Given the description of an element on the screen output the (x, y) to click on. 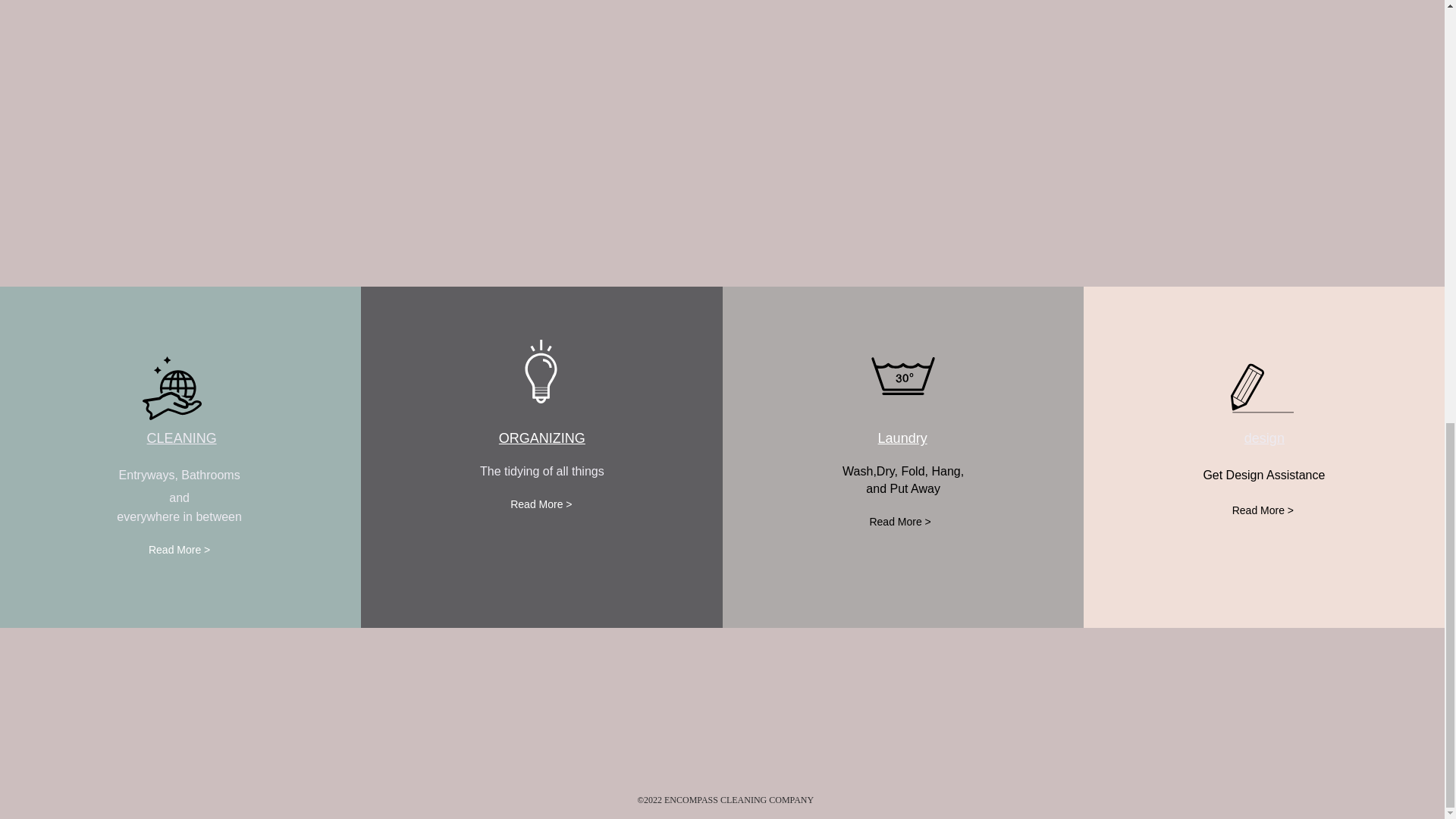
ORGANIZING (542, 437)
design (1264, 437)
CLEANING (181, 437)
Laundry (902, 437)
